Given the description of an element on the screen output the (x, y) to click on. 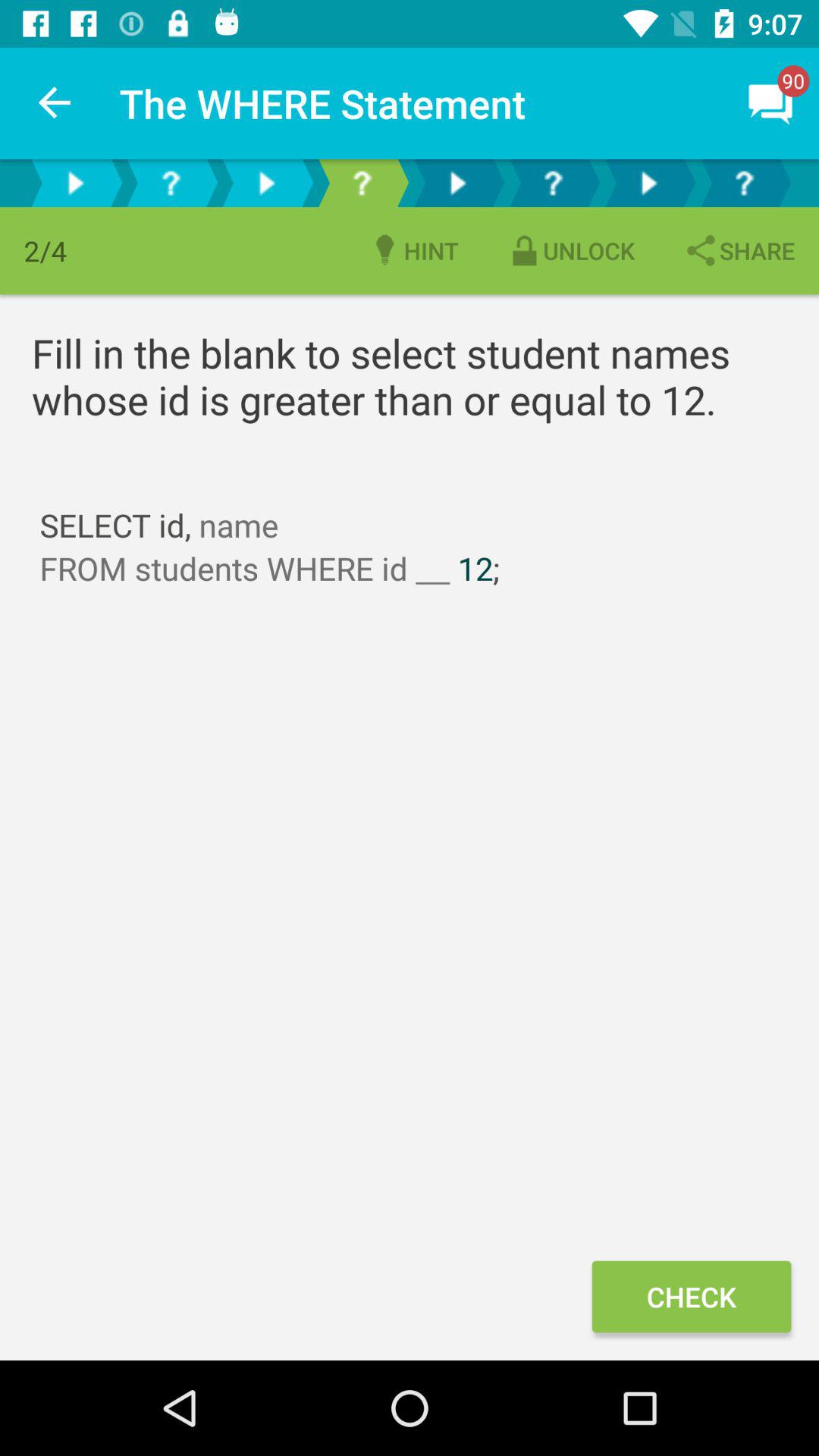
help the article (361, 183)
